Given the description of an element on the screen output the (x, y) to click on. 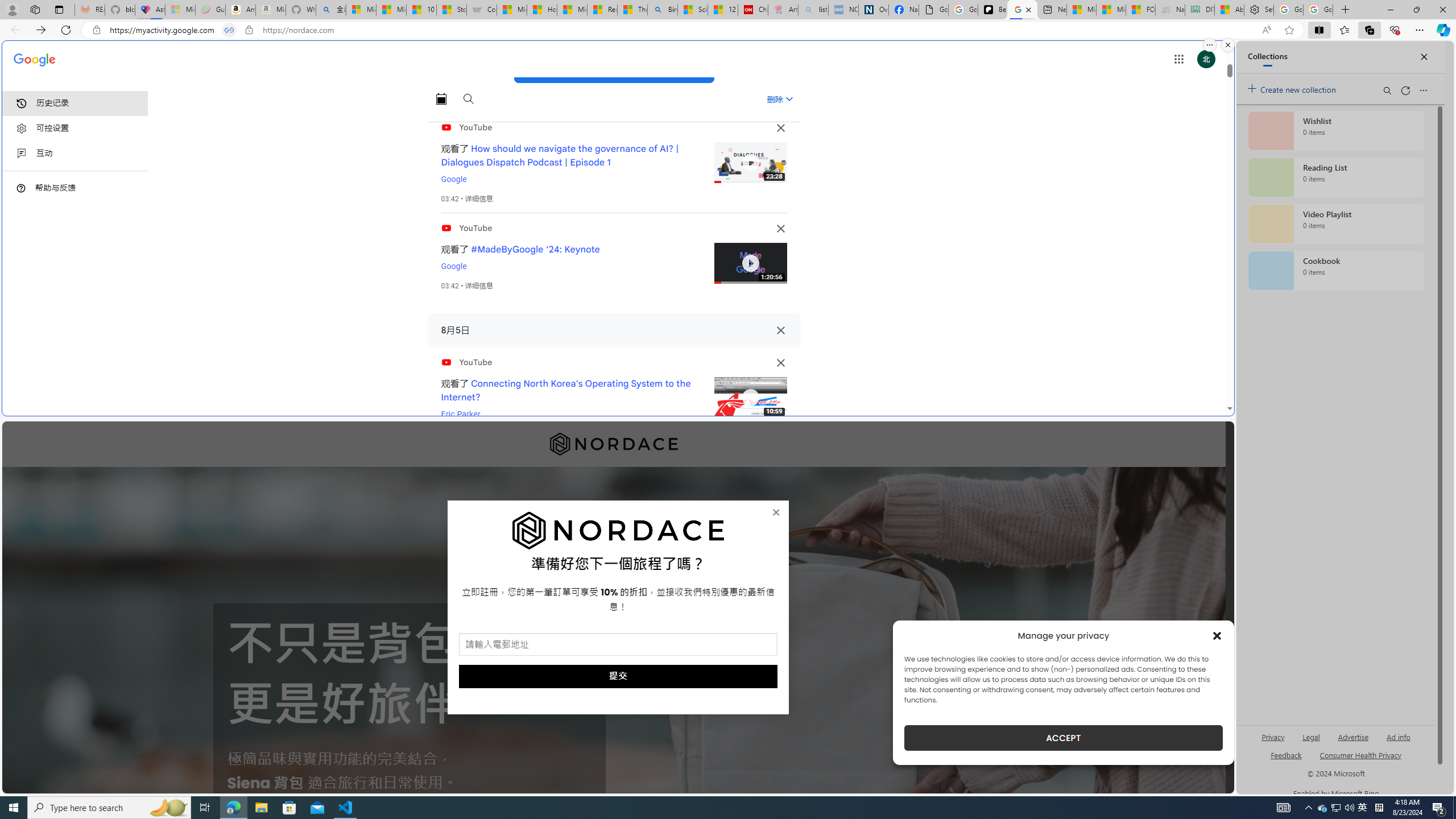
ACCEPT (1063, 737)
Class: IVR0f NMm5M (750, 397)
FOX News - MSN (1140, 9)
NCL Adult Asthma Inhaler Choice Guideline - Sleeping (843, 9)
